Given the description of an element on the screen output the (x, y) to click on. 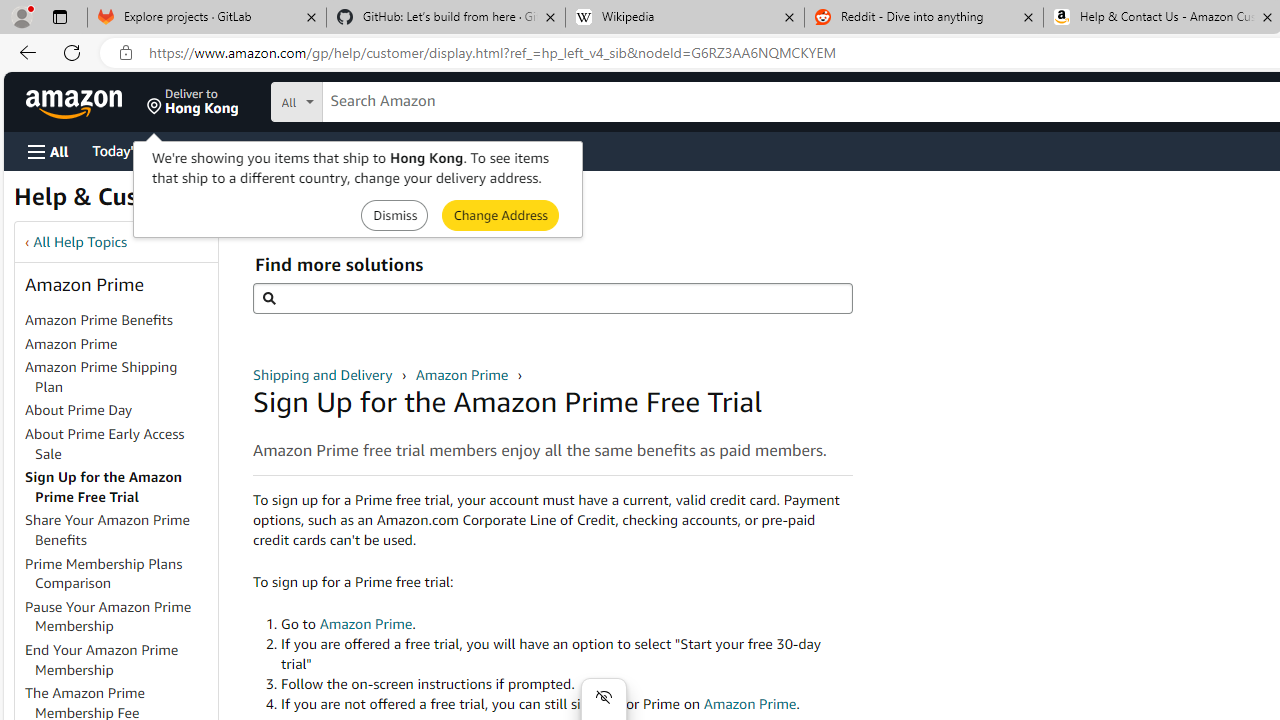
Deliver to Hong Kong (193, 101)
Today's Deals (134, 150)
About Prime Day (120, 411)
Share Your Amazon Prime Benefits (120, 530)
Open Menu (48, 151)
End Your Amazon Prime Membership (120, 660)
Hide menu (603, 696)
Amazon Prime (120, 344)
Amazon Prime  (463, 374)
Sign Up for the Amazon Prime Free Trial (120, 488)
Share Your Amazon Prime Benefits (107, 529)
